Given the description of an element on the screen output the (x, y) to click on. 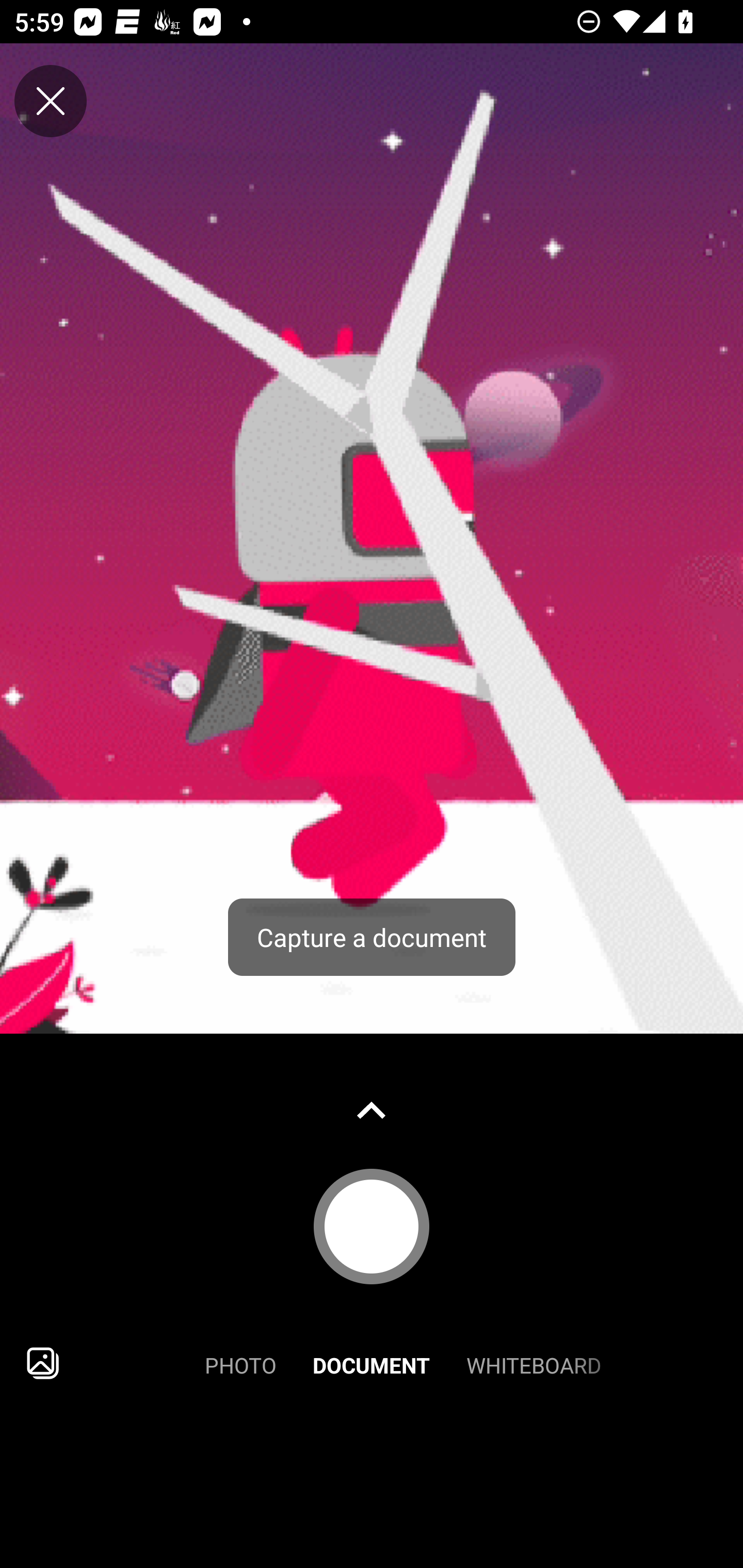
Close (50, 101)
Show gallery (371, 1110)
Capture (371, 1226)
Import (43, 1363)
PHOTO (240, 1362)
DOCUMENT (371, 1362)
WHITEBOARD (533, 1362)
